Given the description of an element on the screen output the (x, y) to click on. 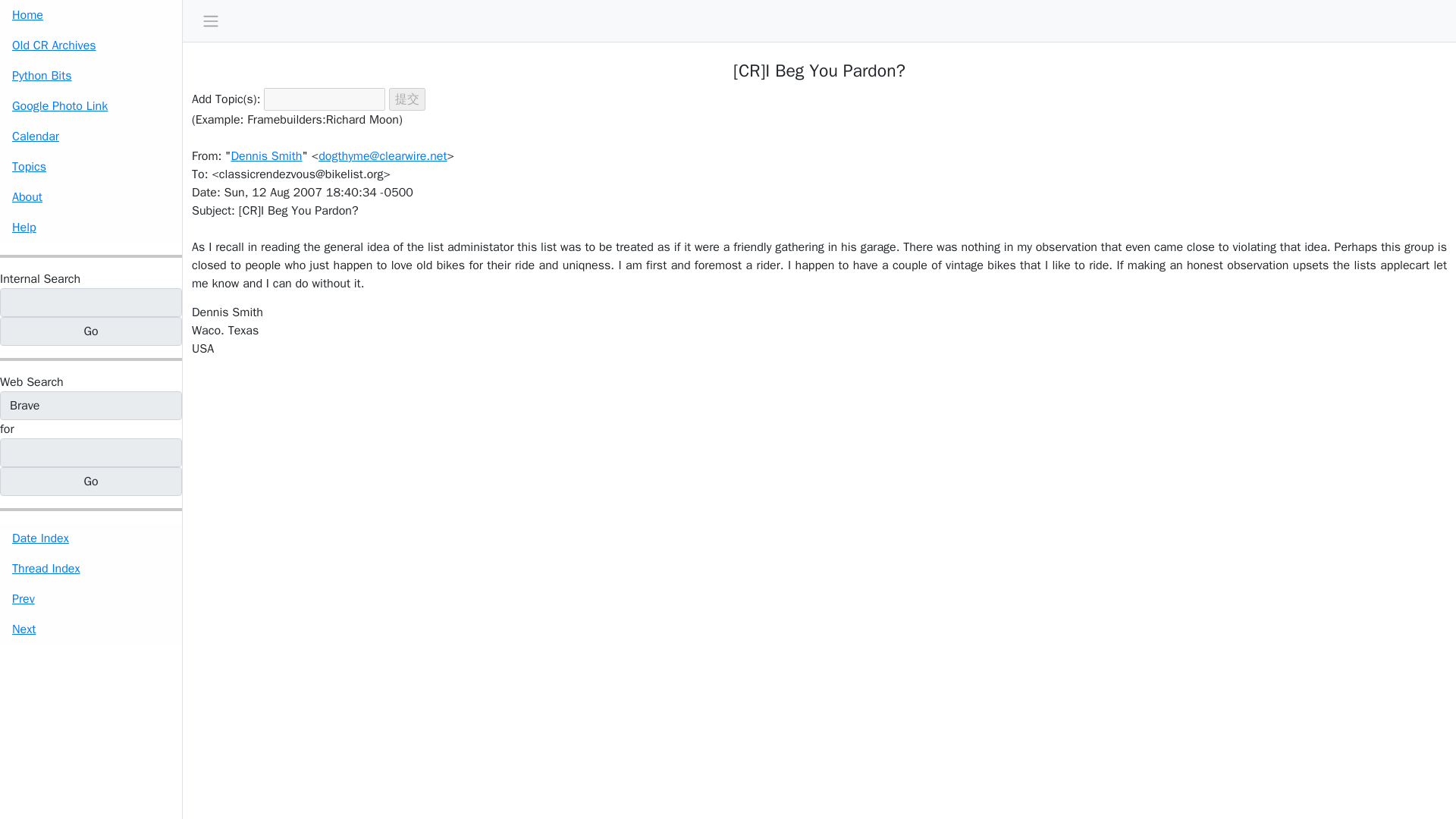
Google Photo Link (91, 105)
Python Bits (91, 75)
Select your preferred search engine and enter a search term. (32, 382)
Old CR Archives (91, 45)
Thread Index (91, 568)
Go (91, 330)
Home (91, 15)
About (91, 196)
Enter a word or phrase to search the archive. (40, 279)
Prev (91, 598)
